Given the description of an element on the screen output the (x, y) to click on. 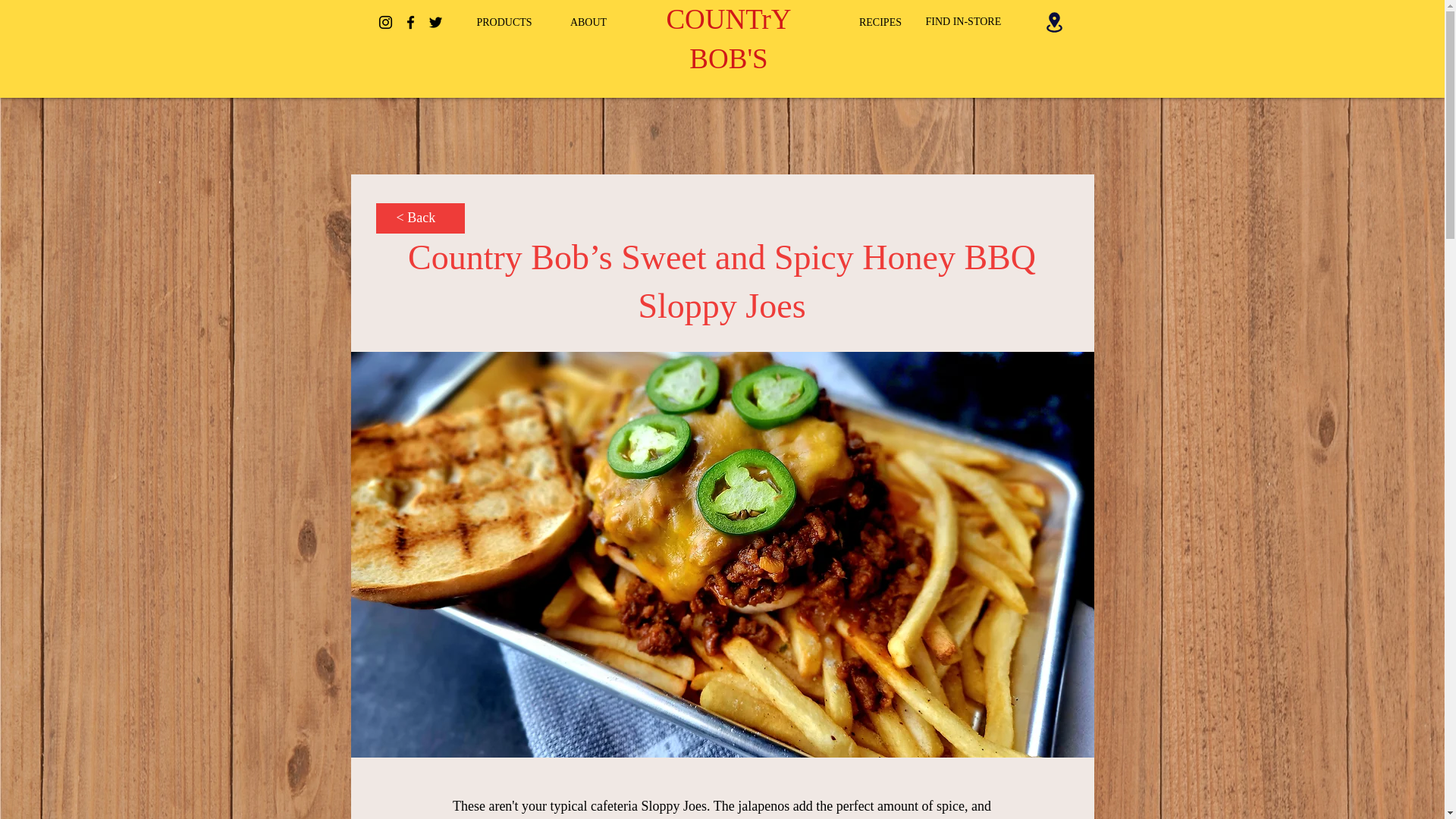
FIND IN-STORE (962, 21)
RECIPES (880, 22)
ABOUT (588, 22)
COUNTrY BOB'S (727, 39)
PRODUCTS (503, 22)
